Given the description of an element on the screen output the (x, y) to click on. 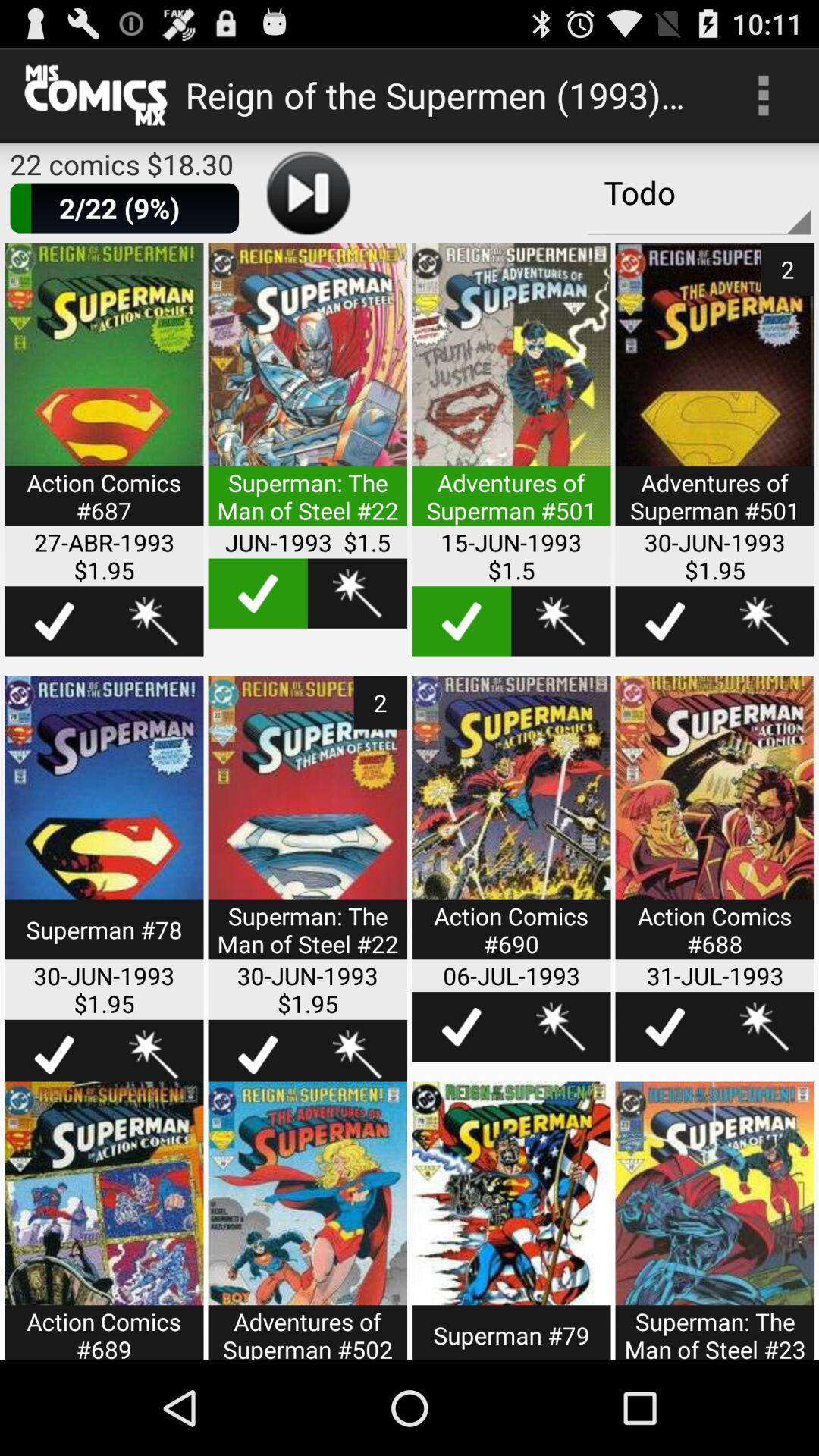
remove the check from the option (461, 621)
